Given the description of an element on the screen output the (x, y) to click on. 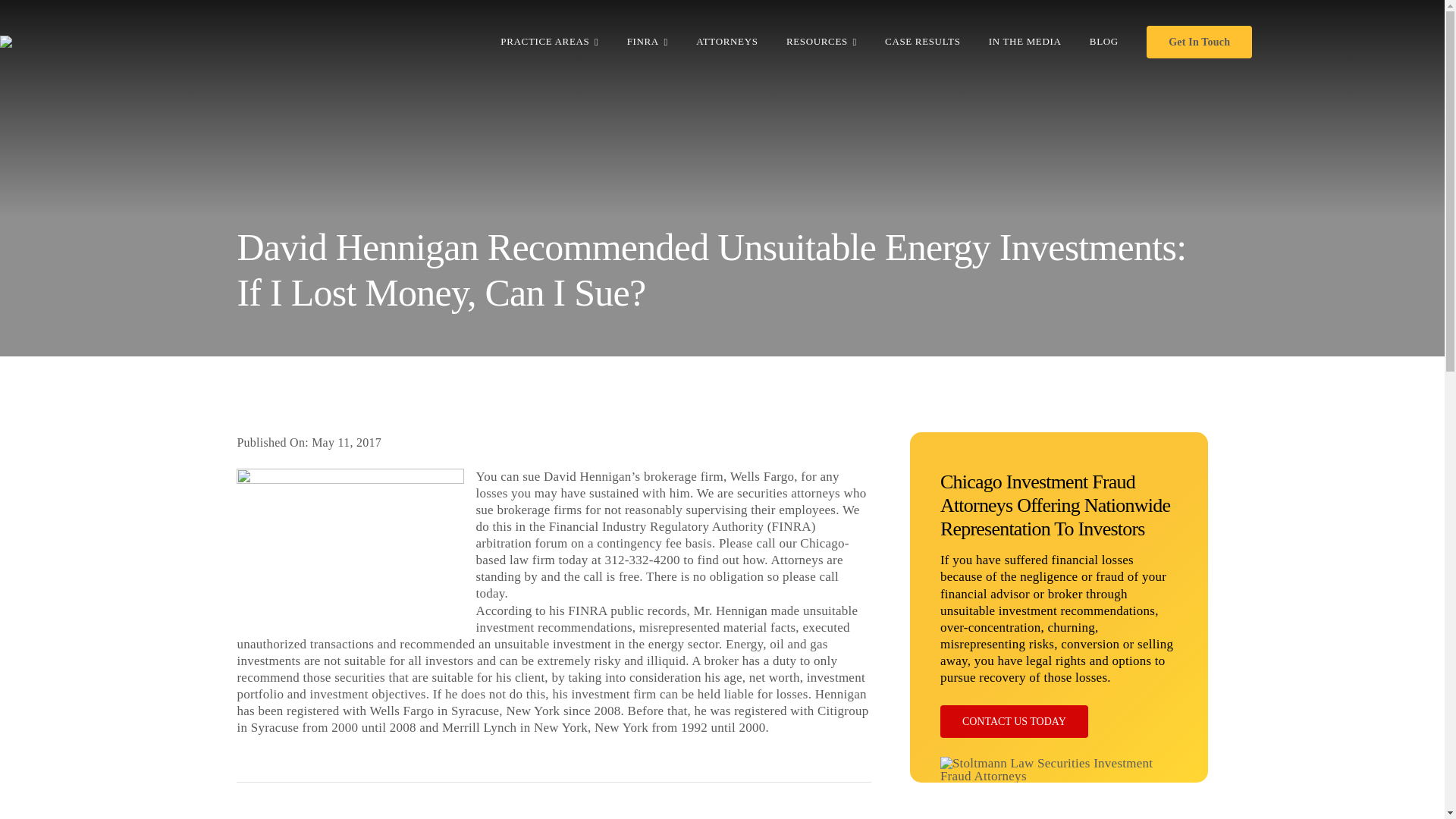
PRACTICE AREAS (549, 41)
IN THE MEDIA (1024, 41)
BLOG (1103, 41)
CASE RESULTS (922, 41)
Get In Touch (1199, 41)
RESOURCES (821, 41)
Stoltmann Law Securities Investment Fraud Attorneys (1058, 769)
ATTORNEYS (726, 41)
FINRA (647, 41)
